Given the description of an element on the screen output the (x, y) to click on. 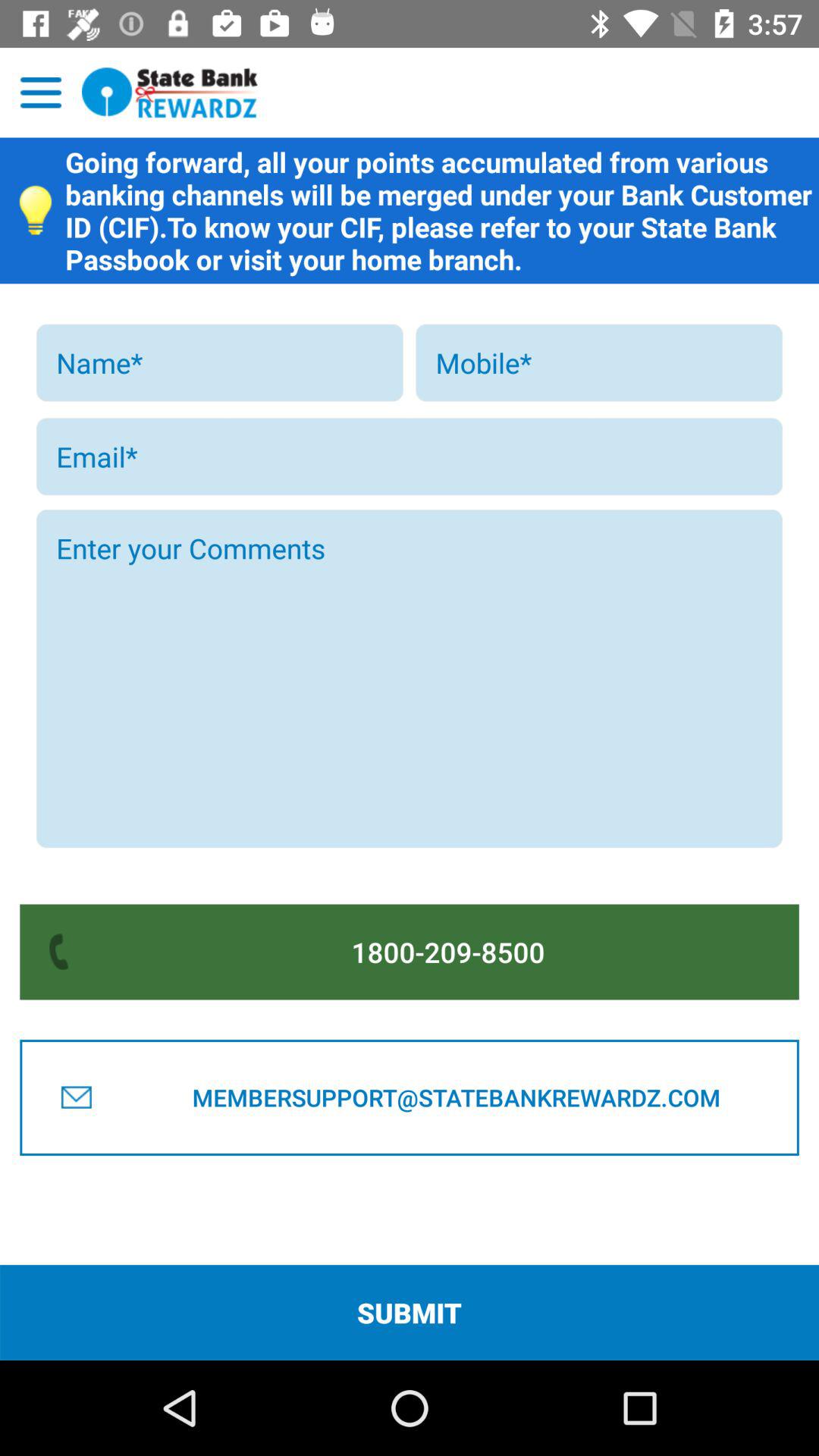
menu (40, 92)
